Given the description of an element on the screen output the (x, y) to click on. 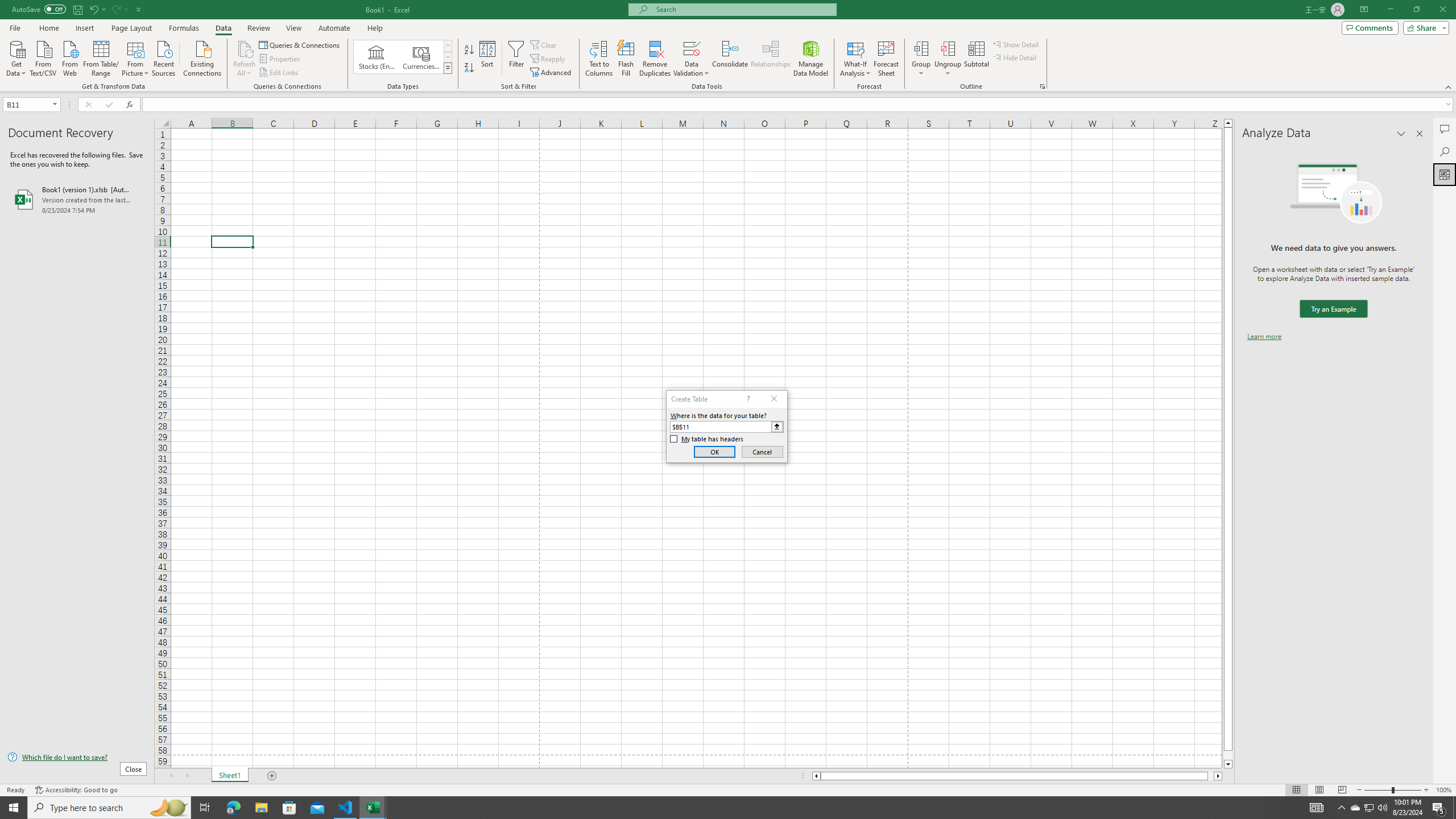
Zoom In (1426, 790)
Accessibility Checker Accessibility: Good to go (76, 790)
Relationships (770, 58)
AutoSave (38, 9)
Group... (921, 48)
Share (1423, 27)
Search (1444, 151)
Stocks (English) (375, 56)
Data Validation... (691, 48)
Book1 (version 1).xlsb  [AutoRecovered] (77, 199)
Save (77, 9)
Ungroup... (947, 58)
Close pane (1419, 133)
